Given the description of an element on the screen output the (x, y) to click on. 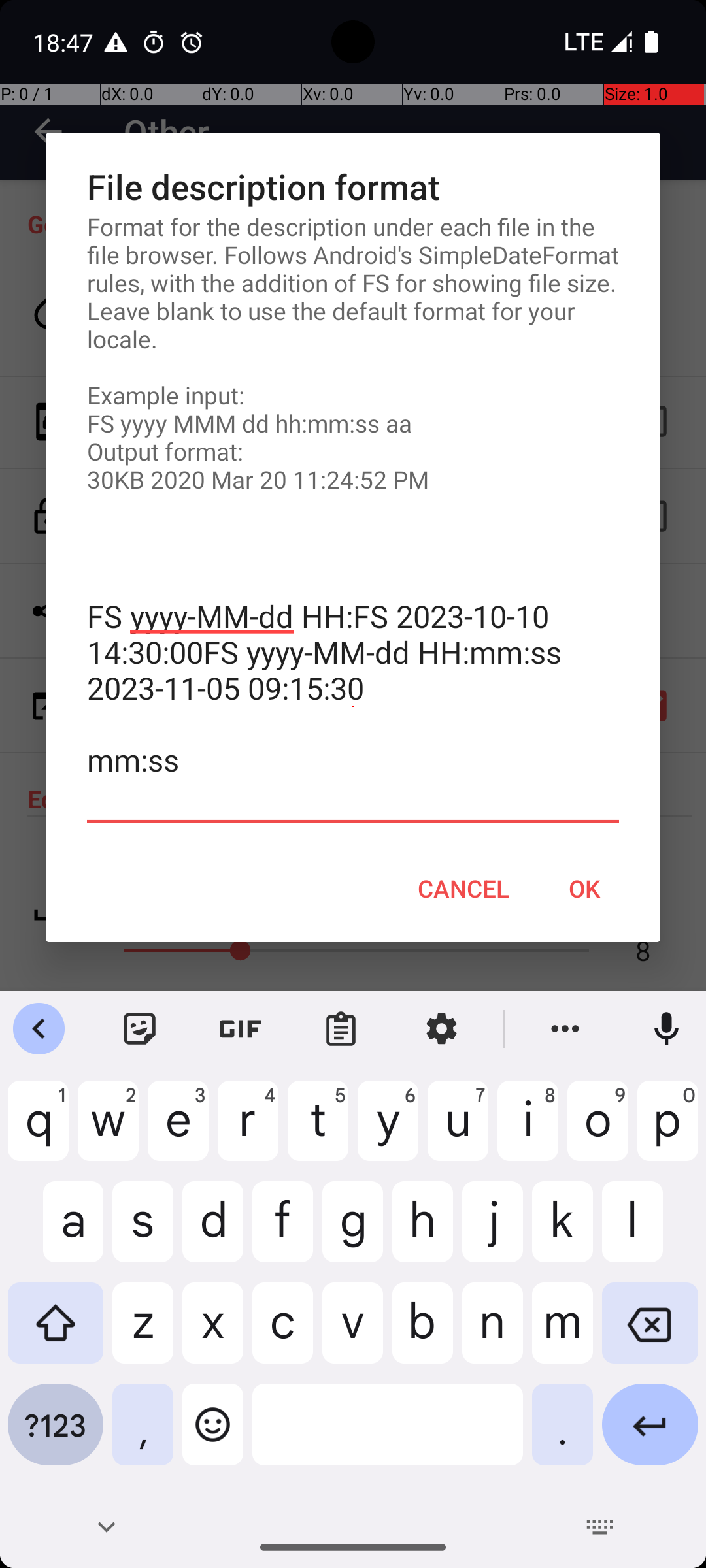
File description format Element type: android.widget.TextView (352, 186)
Format for the description under each file in the file browser. Follows Android's SimpleDateFormat rules, with the addition of FS for showing file size. Leave blank to use the default format for your locale.

Example input:
FS yyyy MMM dd hh:mm:ss aa
Output format:
30KB 2020 Mar 20 11:24:52 PM Element type: android.widget.TextView (352, 352)
FS yyyy-MM-dd HH:FS 2023-10-10 14:30:00FS yyyy-MM-dd HH:mm:ss 2023-11-05 09:15:30

mm:ss
 Element type: android.widget.EditText (352, 706)
18:47 Element type: android.widget.TextView (64, 41)
Clock notification: Upcoming alarm Element type: android.widget.ImageView (191, 41)
